Given the description of an element on the screen output the (x, y) to click on. 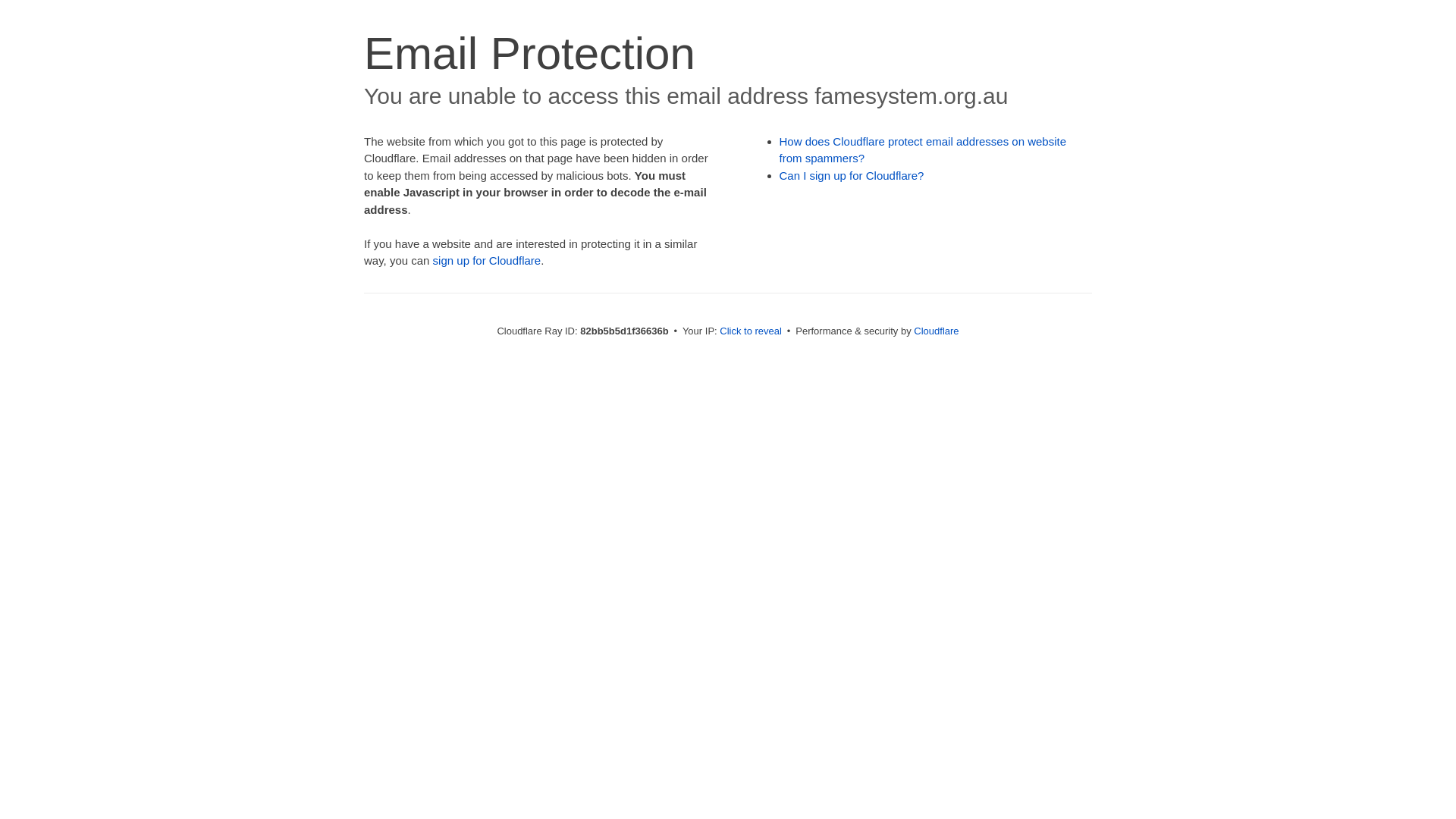
Click to reveal Element type: text (750, 330)
sign up for Cloudflare Element type: text (487, 260)
Cloudflare Element type: text (935, 330)
Can I sign up for Cloudflare? Element type: text (851, 175)
